Given the description of an element on the screen output the (x, y) to click on. 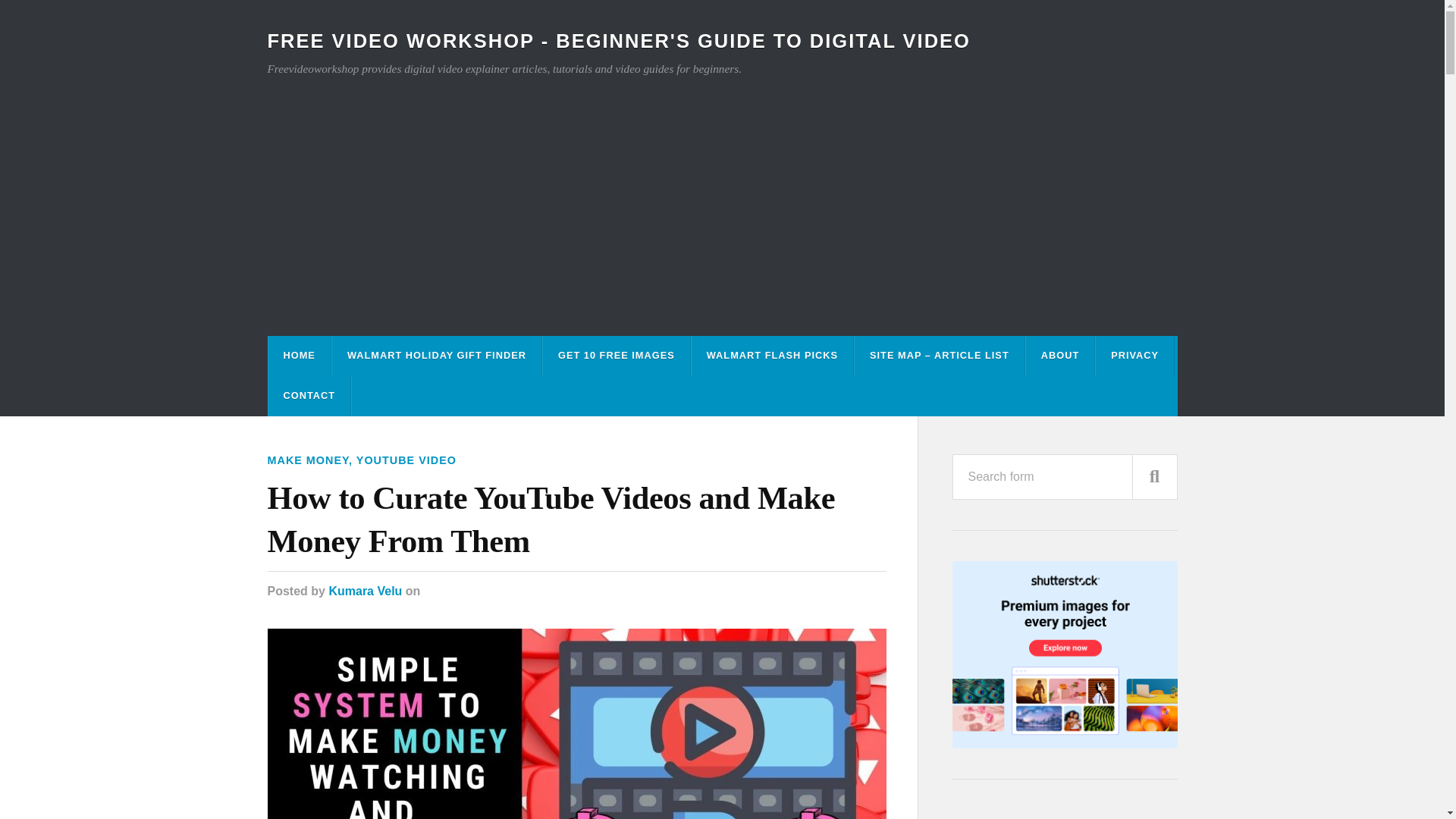
FREE VIDEO WORKSHOP - BEGINNER'S GUIDE TO DIGITAL VIDEO (617, 40)
GET 10 FREE IMAGES (616, 355)
PRIVACY (1134, 355)
YOUTUBE VIDEO (406, 460)
HOME (298, 355)
CONTACT (308, 395)
ABOUT (1060, 355)
WALMART HOLIDAY GIFT FINDER (436, 355)
Kumara Velu (365, 590)
WALMART FLASH PICKS (772, 355)
MAKE MONEY (307, 460)
